Given the description of an element on the screen output the (x, y) to click on. 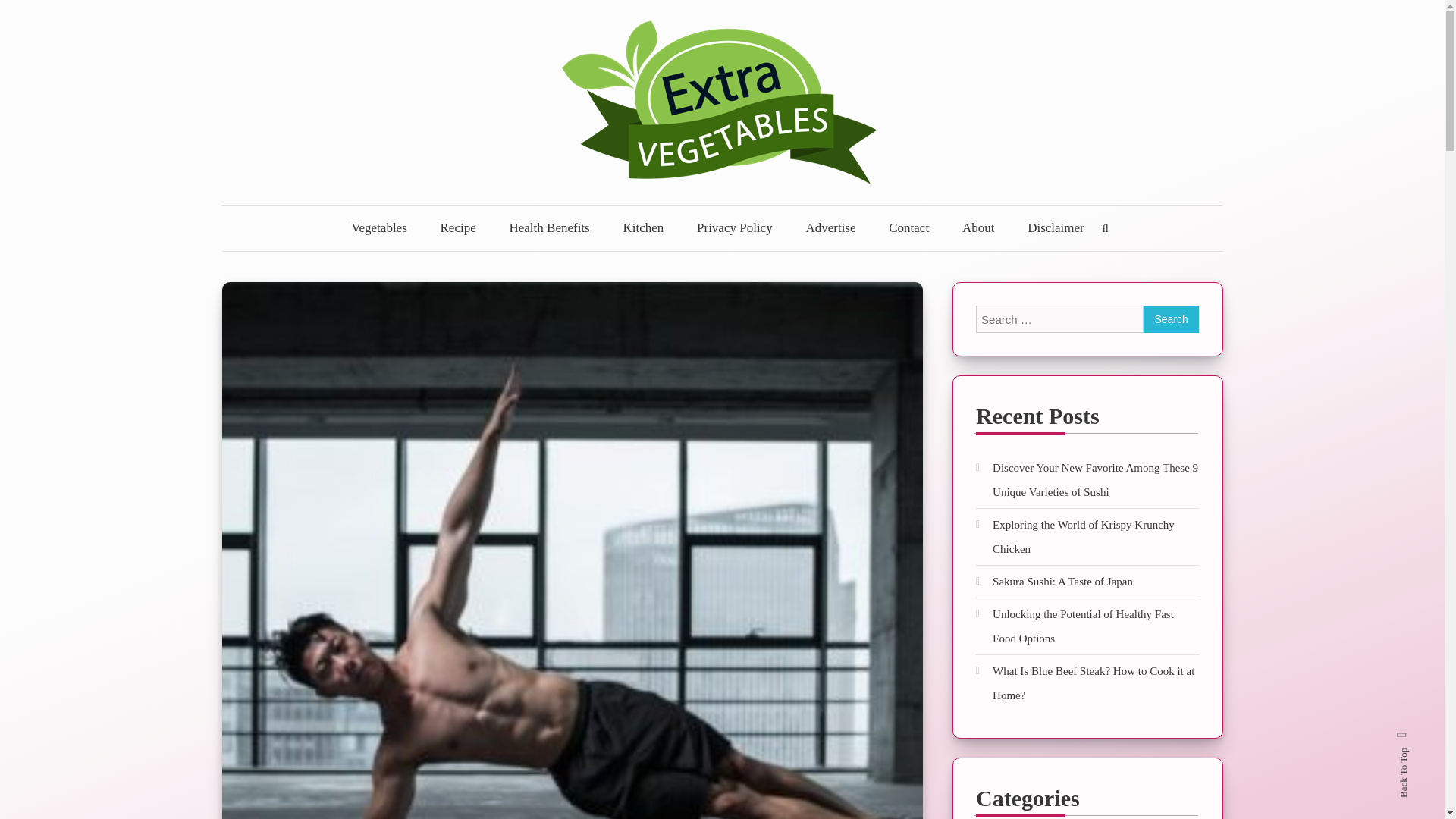
Search (1170, 318)
Disclaimer (1055, 227)
Recipe (458, 227)
Extra Vegetables (363, 214)
Exploring the World of Krispy Krunchy Chicken (1086, 536)
Advertise (830, 227)
About (978, 227)
Privacy Policy (734, 227)
Sakura Sushi: A Taste of Japan (1053, 581)
Kitchen (642, 227)
